Given the description of an element on the screen output the (x, y) to click on. 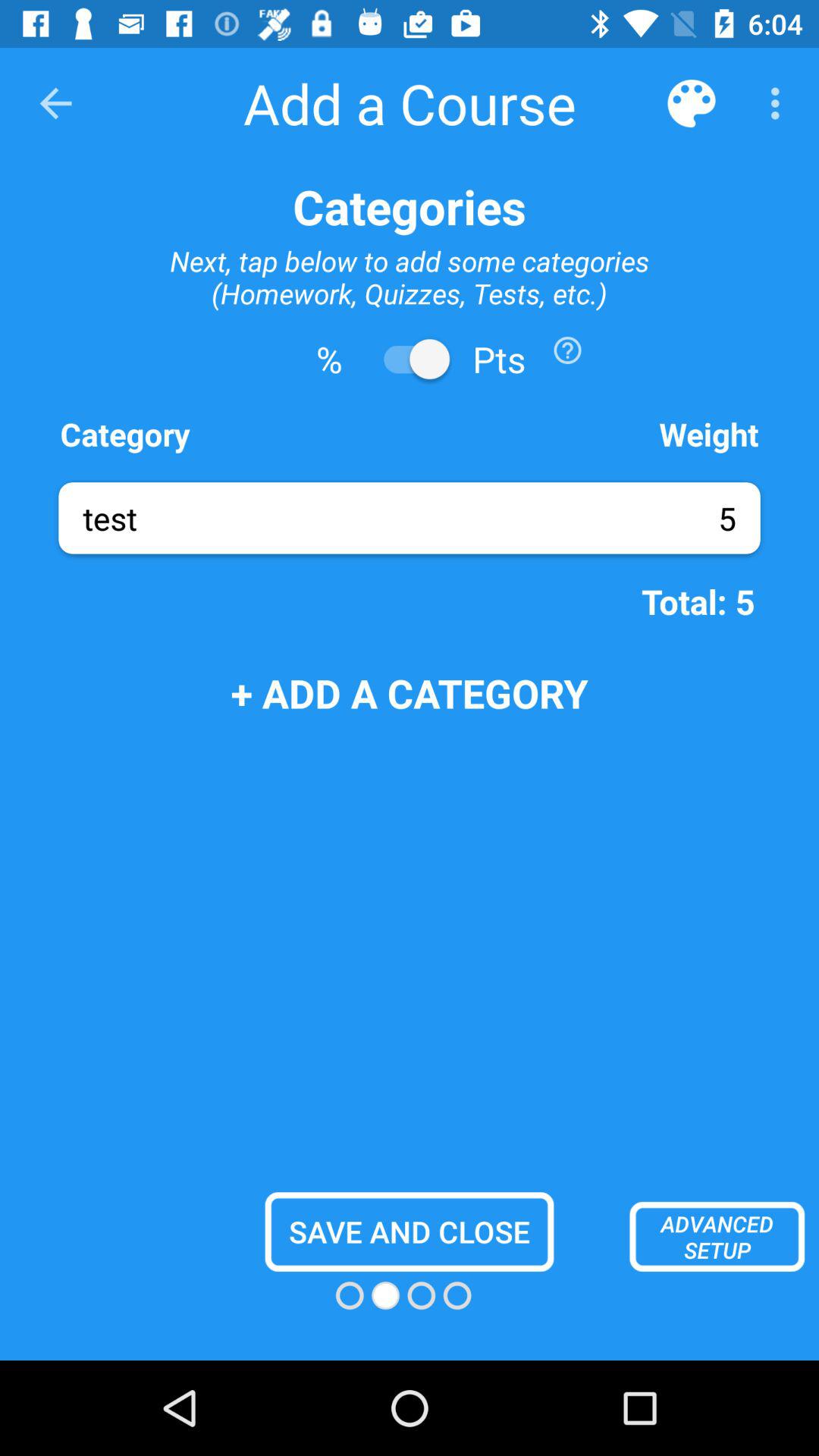
toggle pts (409, 359)
